Given the description of an element on the screen output the (x, y) to click on. 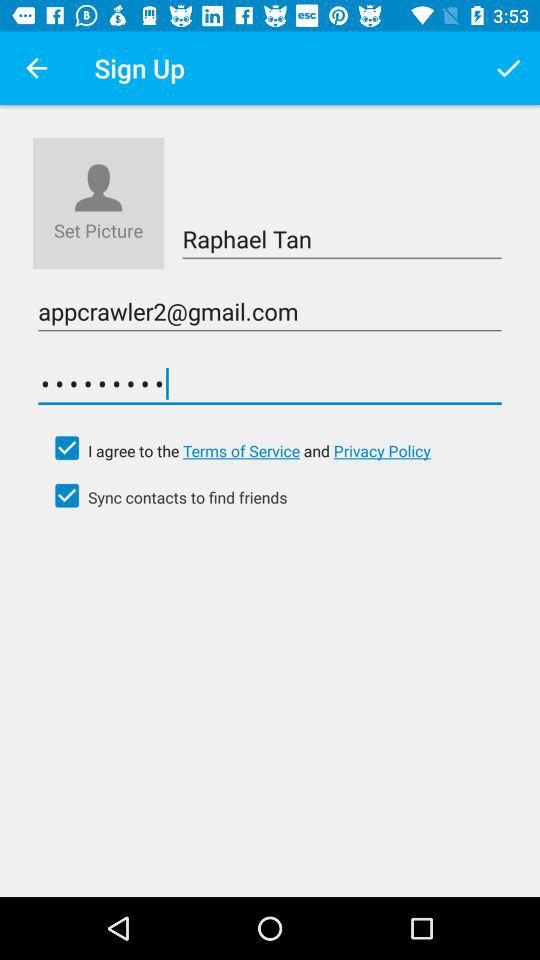
click to check box (67, 448)
